Given the description of an element on the screen output the (x, y) to click on. 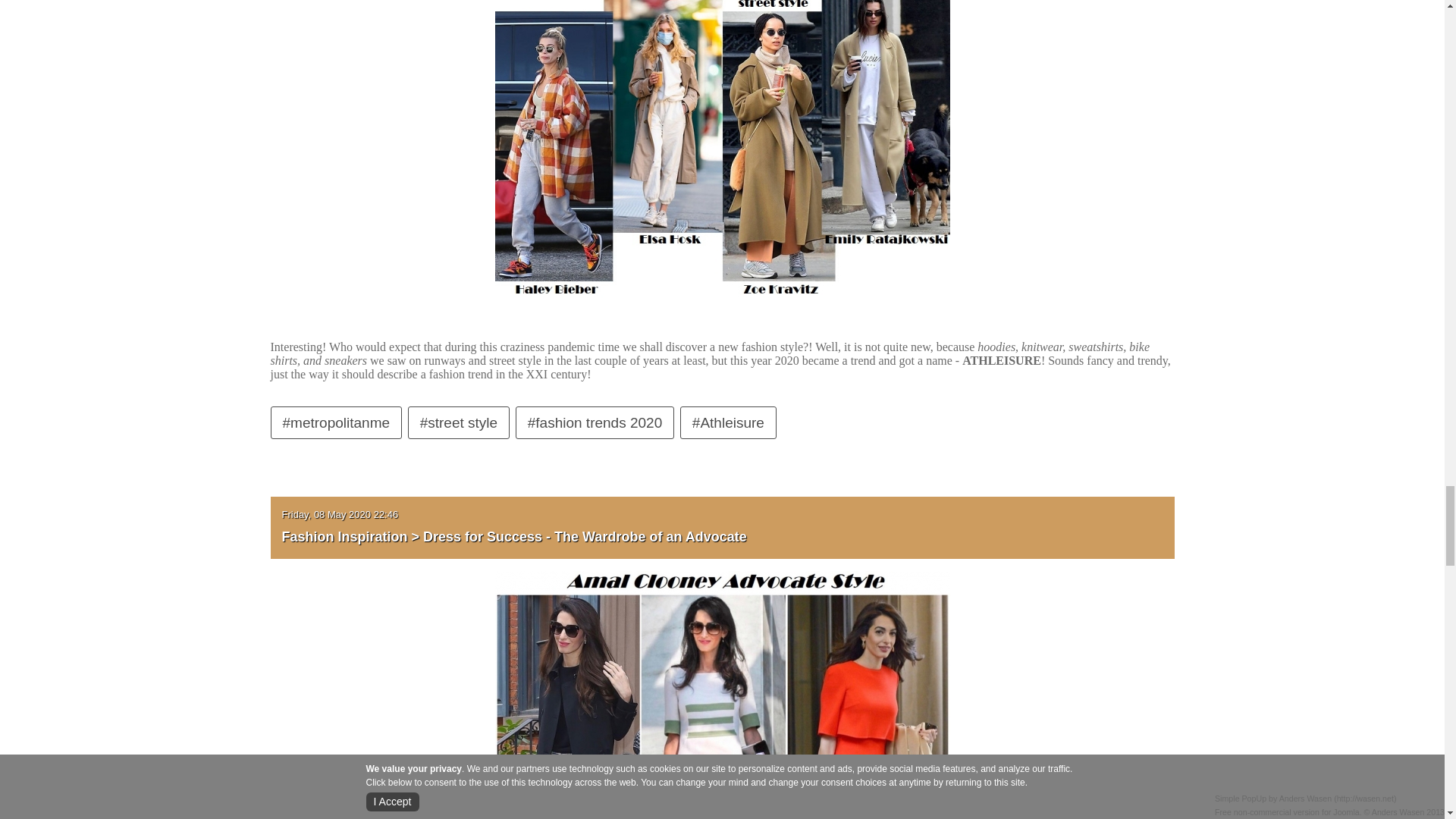
The Athleisure Style 2020 (722, 144)
Dress for Success - The Wardrobe of an Advocate (722, 790)
